Given the description of an element on the screen output the (x, y) to click on. 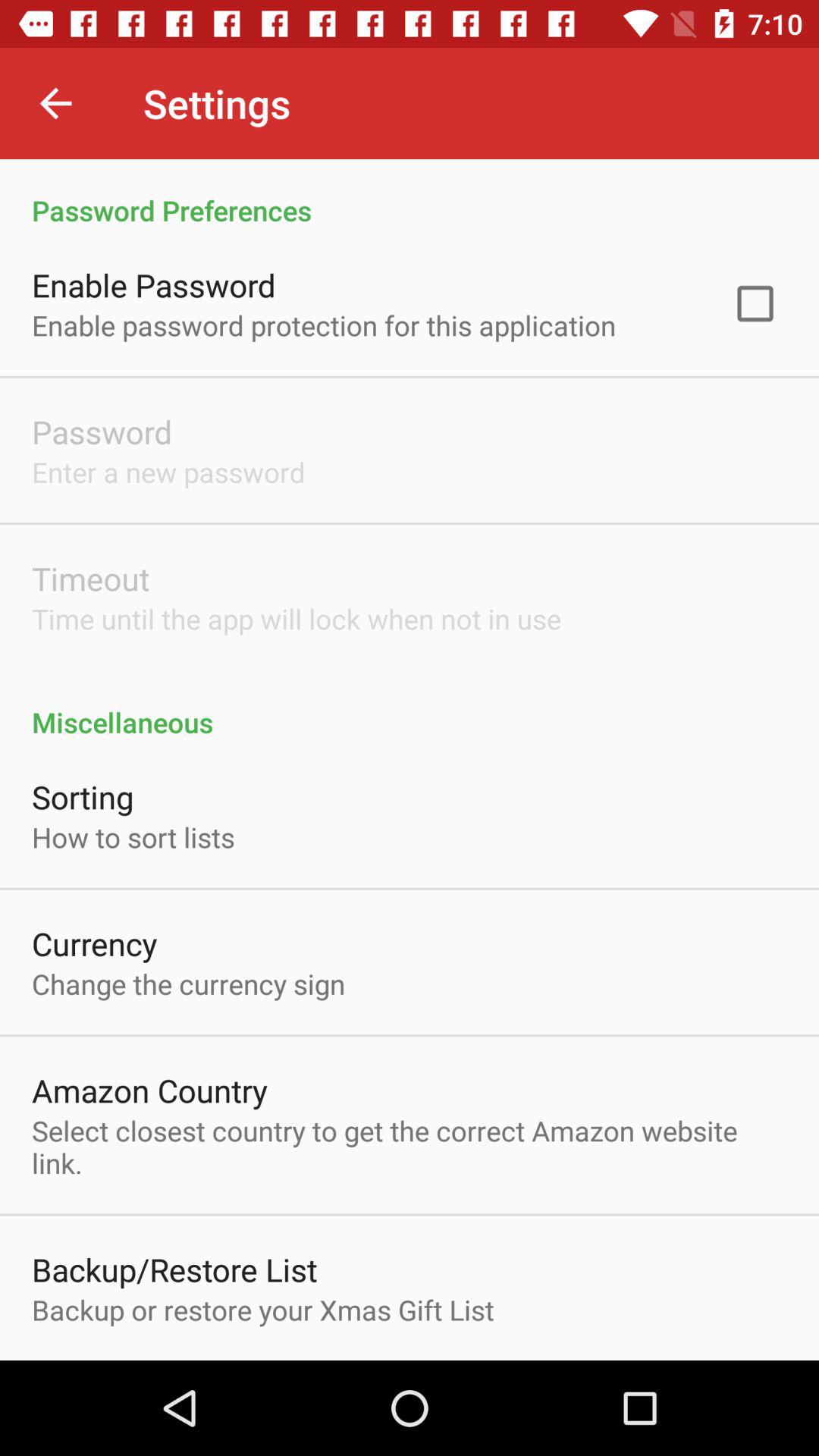
choose item above the how to sort icon (82, 796)
